Given the description of an element on the screen output the (x, y) to click on. 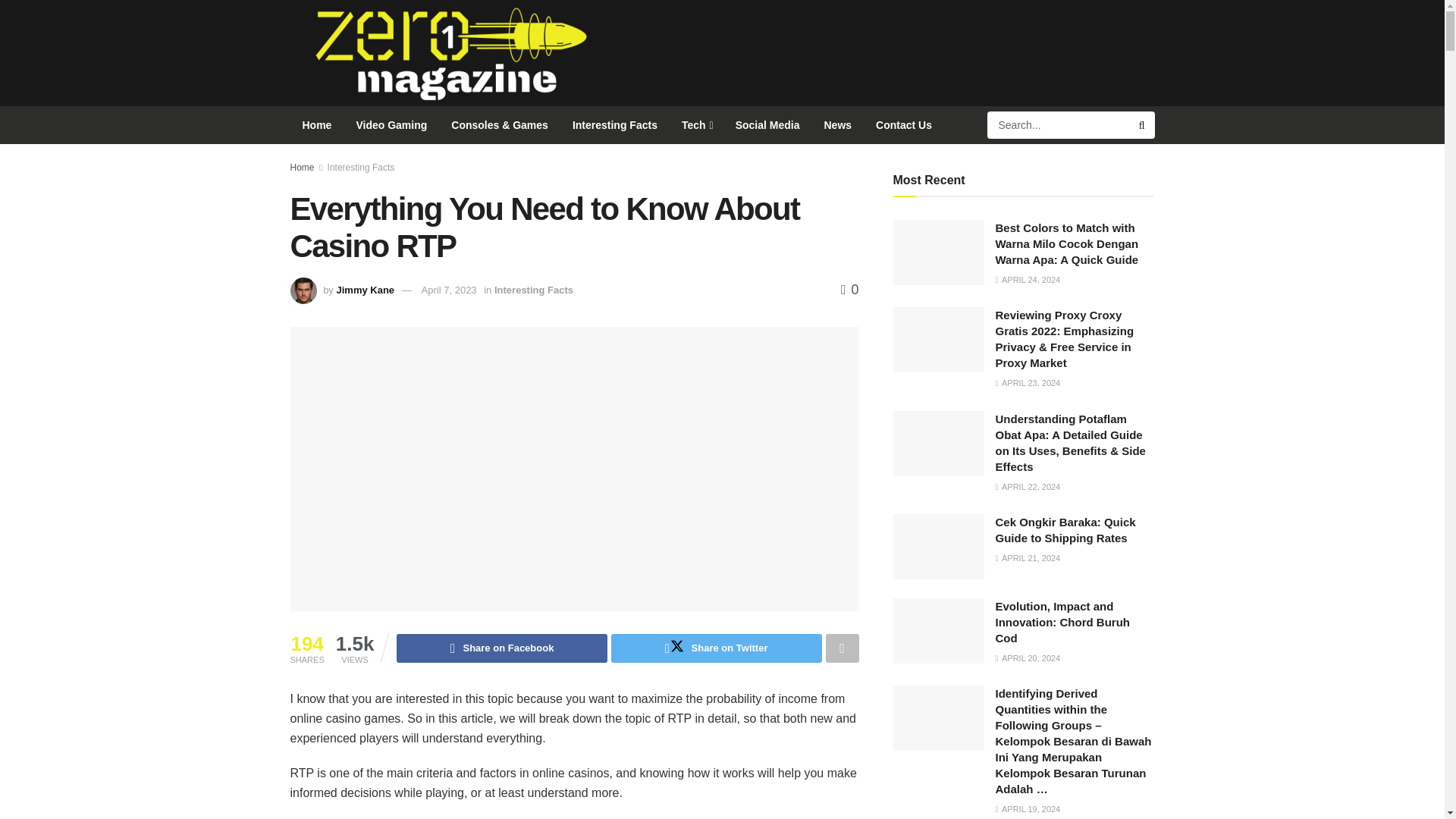
Social Media (767, 125)
Share on Twitter (716, 647)
Jimmy Kane (365, 289)
Interesting Facts (614, 125)
Home (301, 167)
Interesting Facts (360, 167)
Tech (696, 125)
Home (316, 125)
News (836, 125)
Share on Facebook (501, 647)
Interesting Facts (534, 289)
Contact Us (903, 125)
April 7, 2023 (449, 289)
0 (850, 289)
Video Gaming (391, 125)
